Given the description of an element on the screen output the (x, y) to click on. 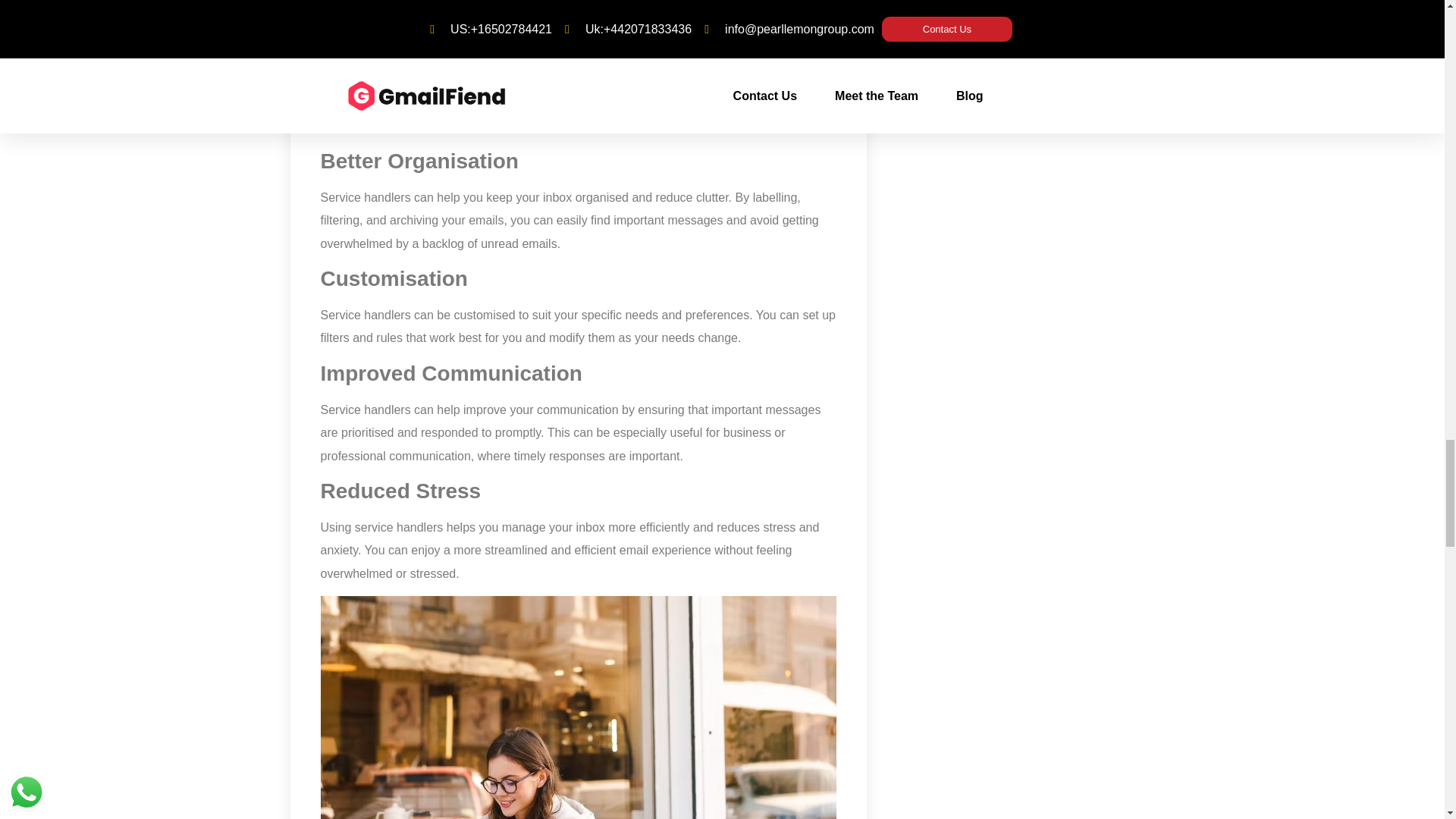
Service Handler Gmail (577, 707)
